Given the description of an element on the screen output the (x, y) to click on. 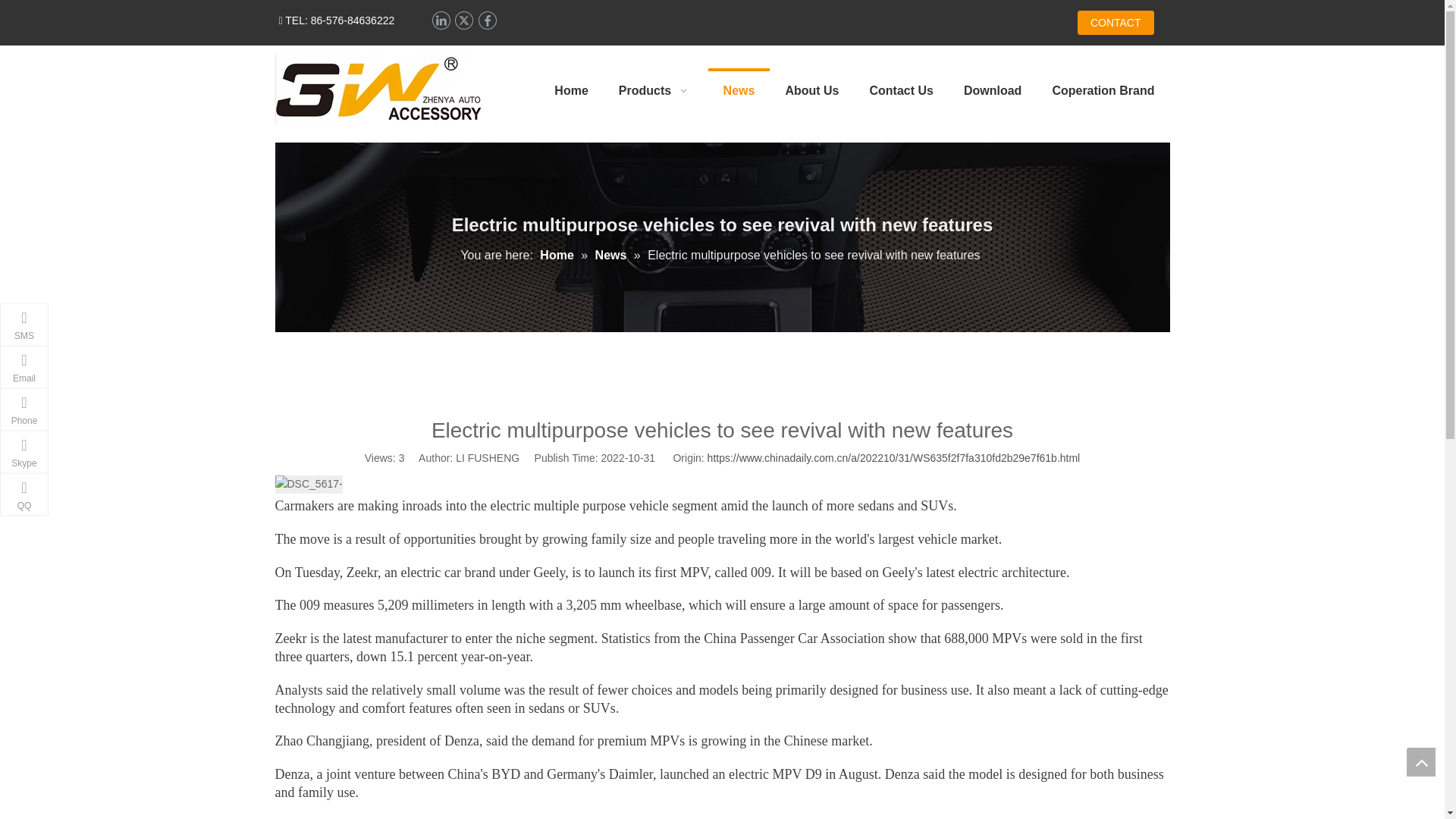
Coperation Brand (1102, 90)
News (738, 90)
Home (558, 254)
News (612, 254)
Products   (655, 90)
Linkedin (439, 20)
Contact Us (900, 90)
About Us (811, 90)
Download (992, 90)
8165314 (377, 88)
